Given the description of an element on the screen output the (x, y) to click on. 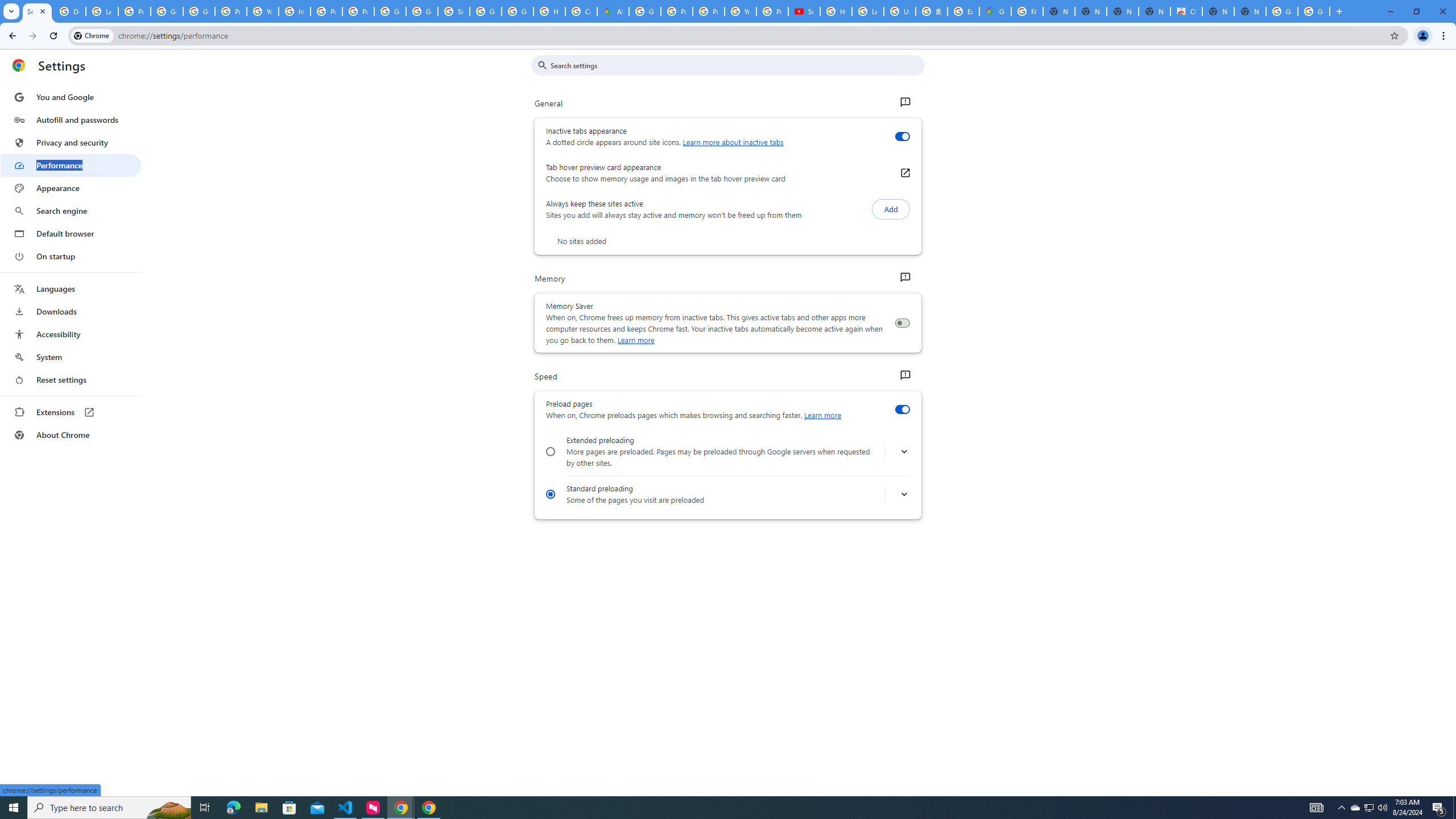
Privacy Help Center - Policies Help (708, 11)
Settings - Performance (37, 11)
Languages (70, 288)
Reset settings (70, 379)
Downloads (70, 311)
YouTube (262, 11)
New Tab (1249, 11)
Create your Google Account (581, 11)
